Given the description of an element on the screen output the (x, y) to click on. 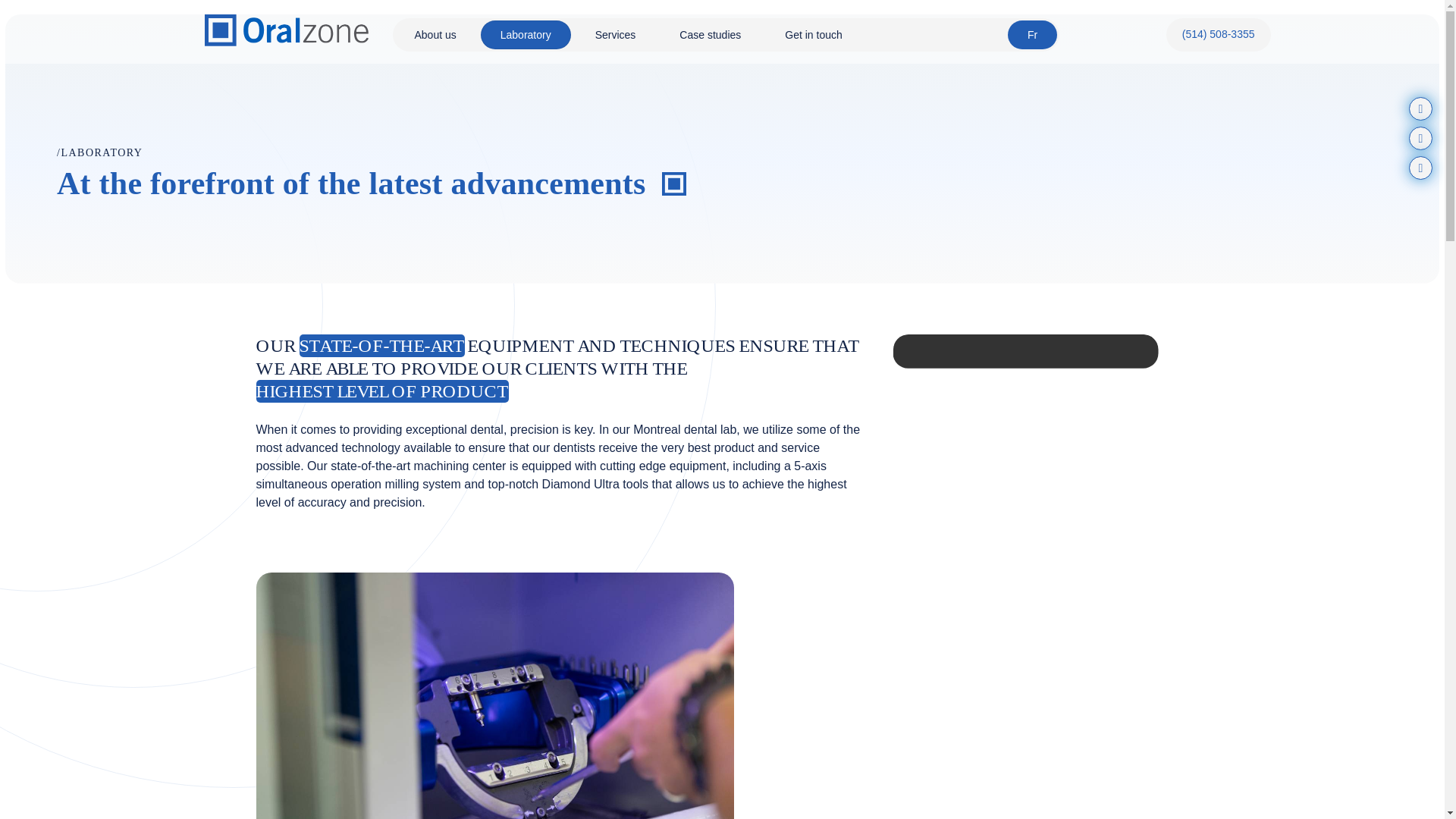
Fr (1032, 34)
1R4A4081 (494, 695)
Case studies (710, 34)
Laboratory (526, 34)
About us (436, 34)
Get in touch (813, 34)
Services (615, 34)
